Given the description of an element on the screen output the (x, y) to click on. 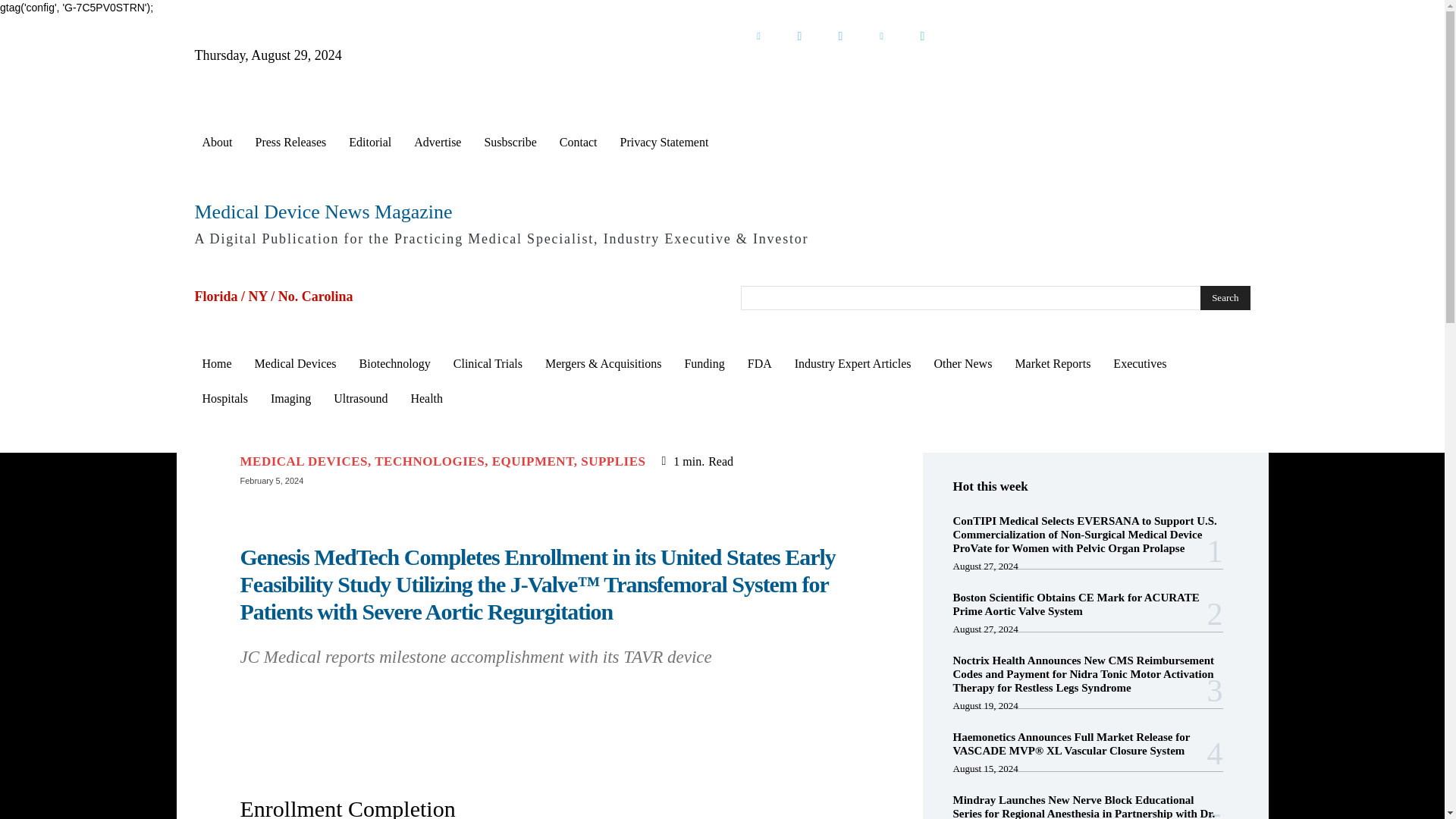
Medical Devices (295, 363)
Contact (578, 142)
LinkedIn (757, 36)
Biotechnology (395, 363)
Twitter (798, 36)
About (216, 142)
Facebook (840, 36)
Pinterest (881, 36)
Privacy Statement (664, 142)
Clinical Trials (487, 363)
